Given the description of an element on the screen output the (x, y) to click on. 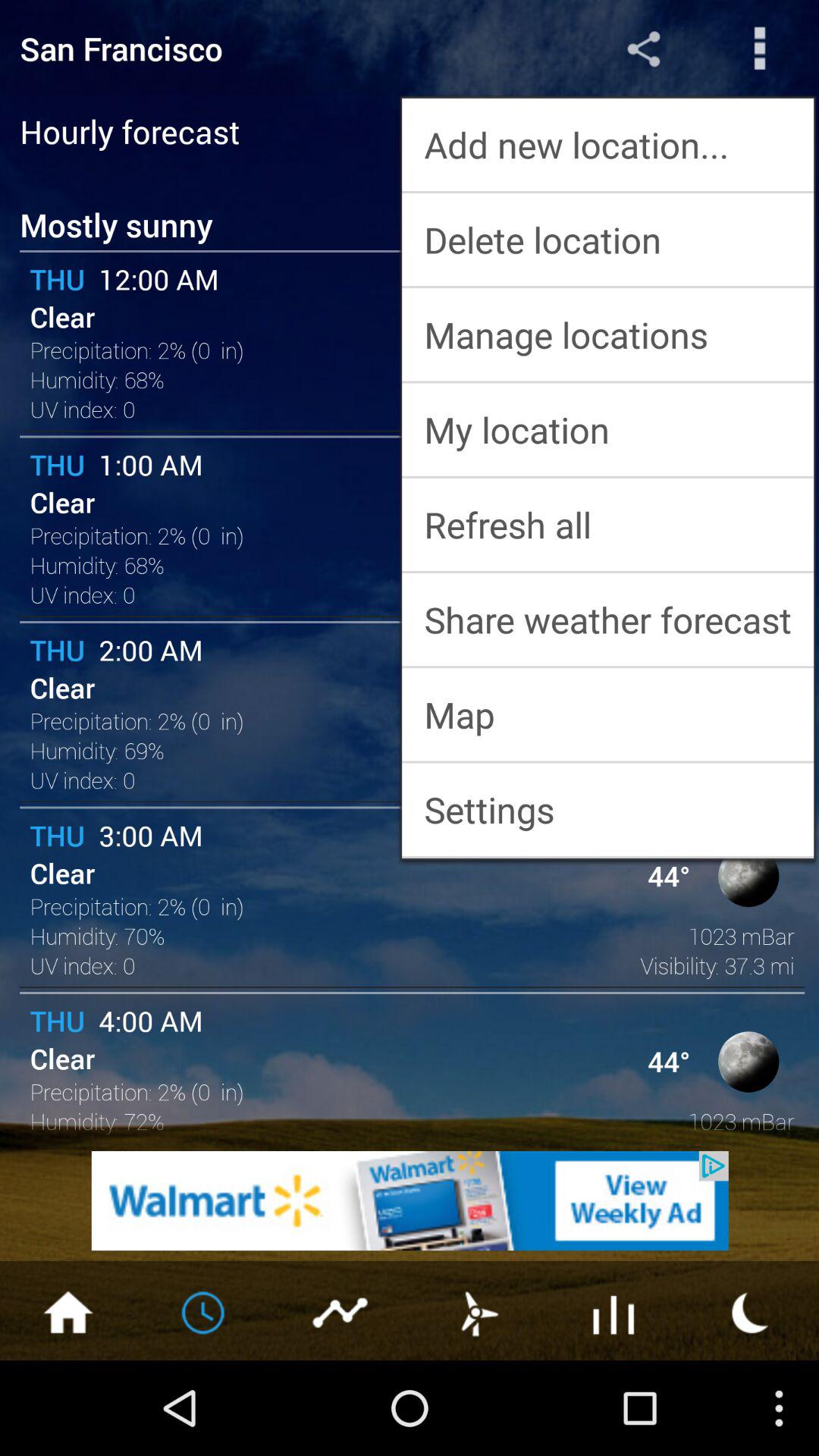
click the settings (607, 809)
